Given the description of an element on the screen output the (x, y) to click on. 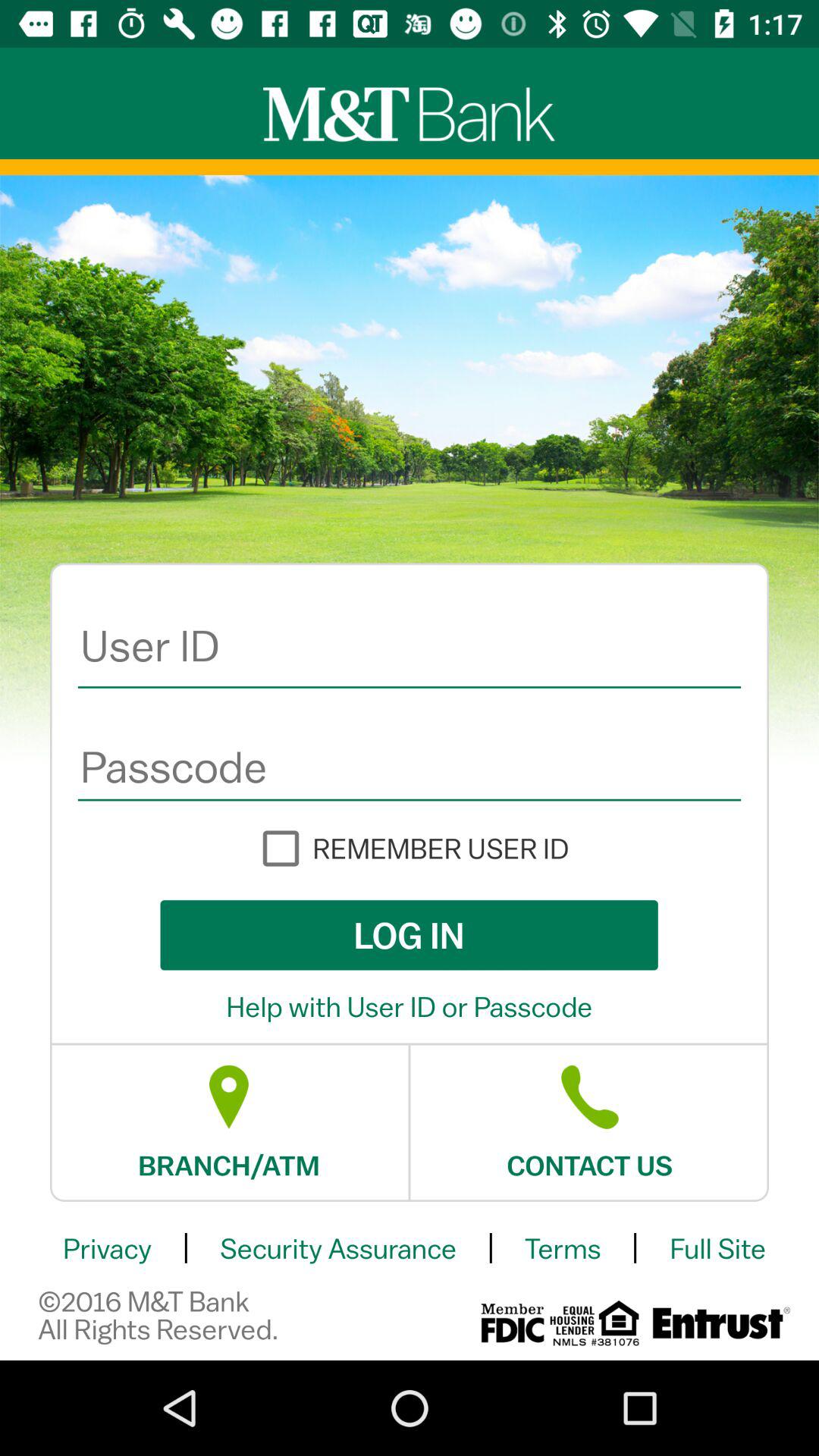
select the help with user item (409, 1006)
